Given the description of an element on the screen output the (x, y) to click on. 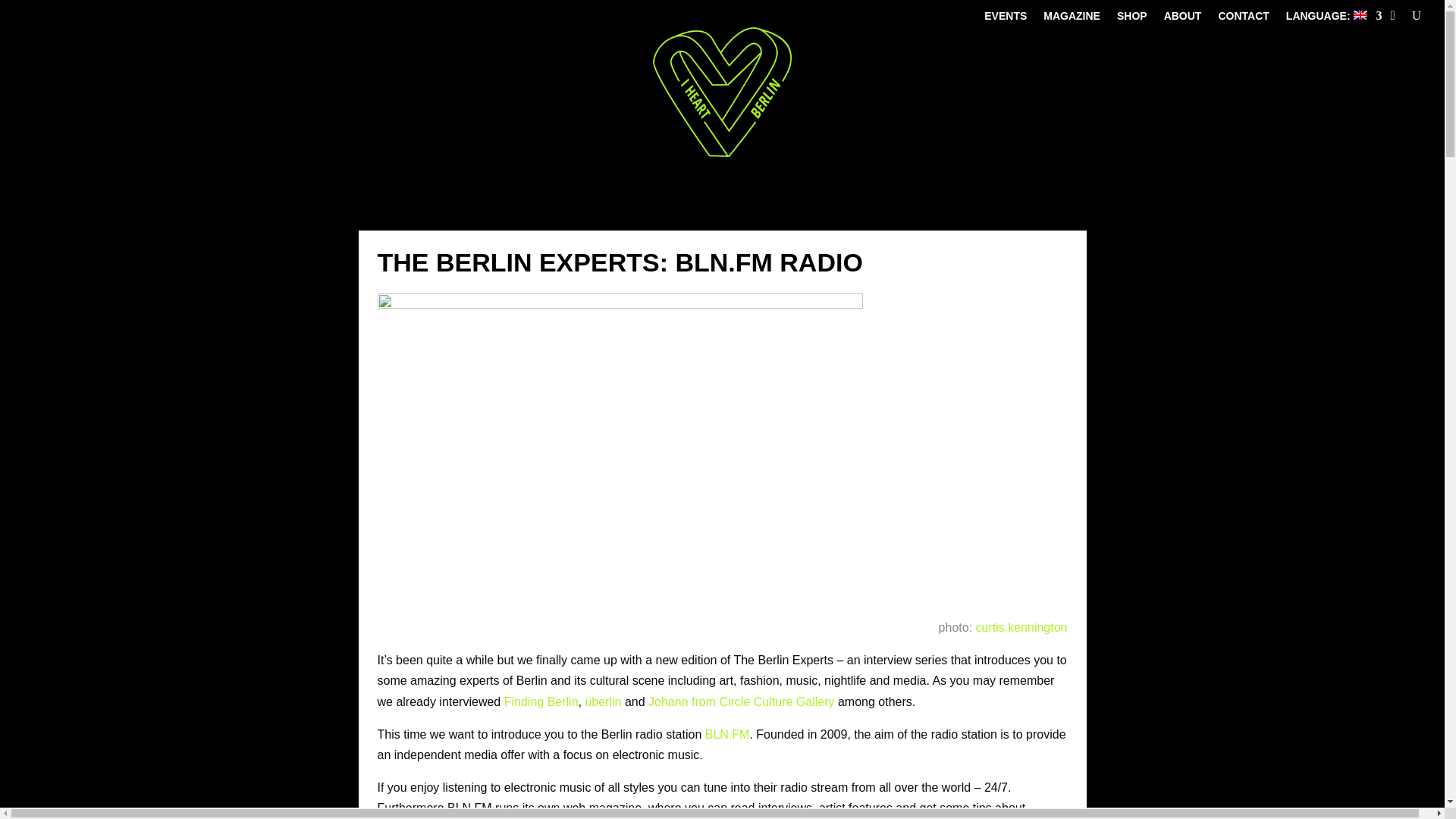
Finding Berlin (540, 701)
CONTACT (1242, 18)
iHeartBerlin-Logo-2020-neon (721, 92)
curtis.kennington (1021, 626)
Johann from Circle Culture Gallery (740, 701)
MAGAZINE (1071, 18)
ABOUT (1182, 18)
SHOP (1131, 18)
BLN.FM (726, 734)
English (1333, 18)
EVENTS (1005, 18)
LANGUAGE:  (1333, 18)
Geh zum Fotostream von curtis.kennington (1021, 626)
